Given the description of an element on the screen output the (x, y) to click on. 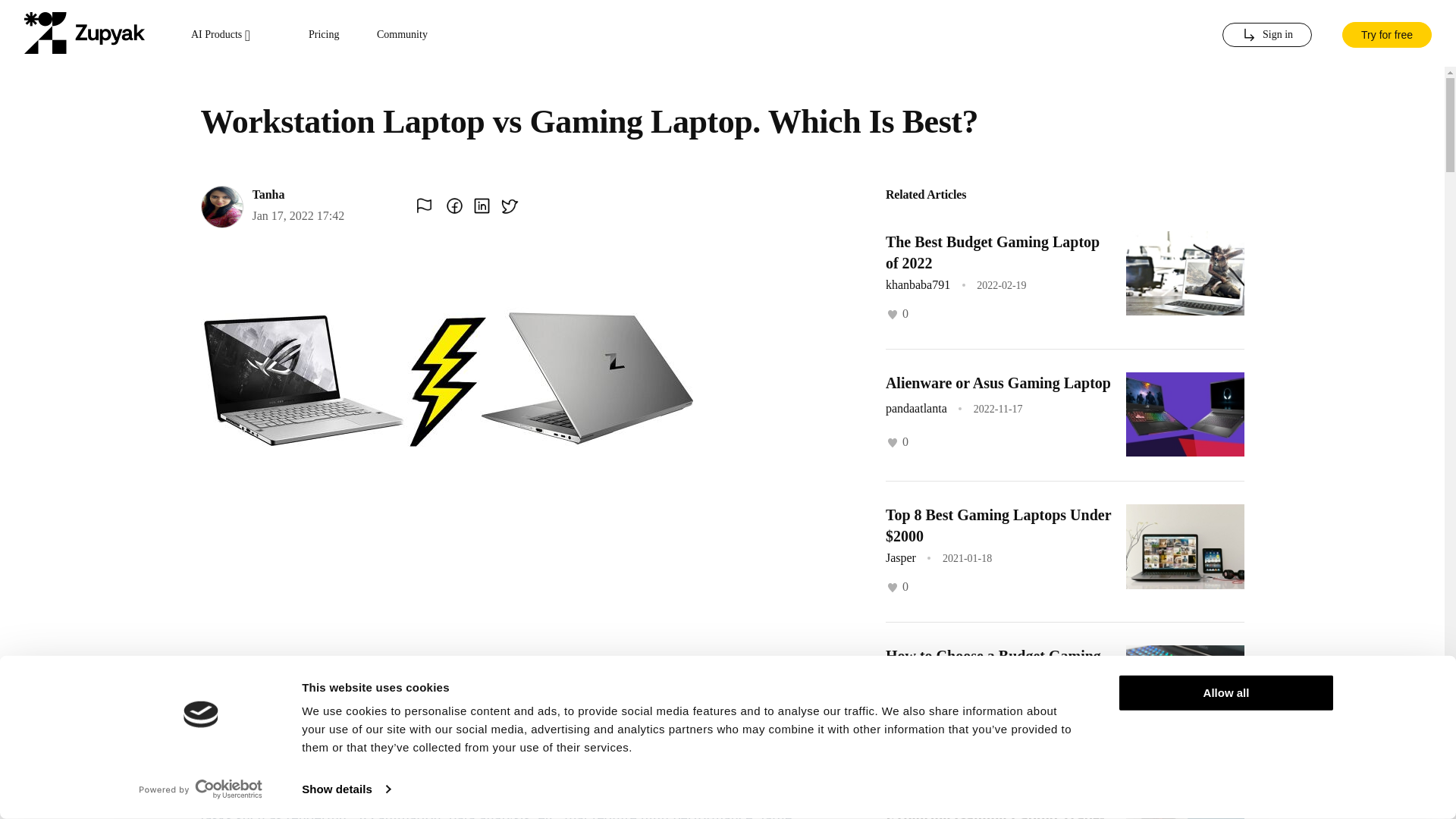
Alienware or Asus Gaming Laptop (997, 382)
How to Choose a Budget Gaming Laptop (992, 666)
The Best Budget Gaming Laptop of 2022 (992, 252)
Show details (345, 789)
